Given the description of an element on the screen output the (x, y) to click on. 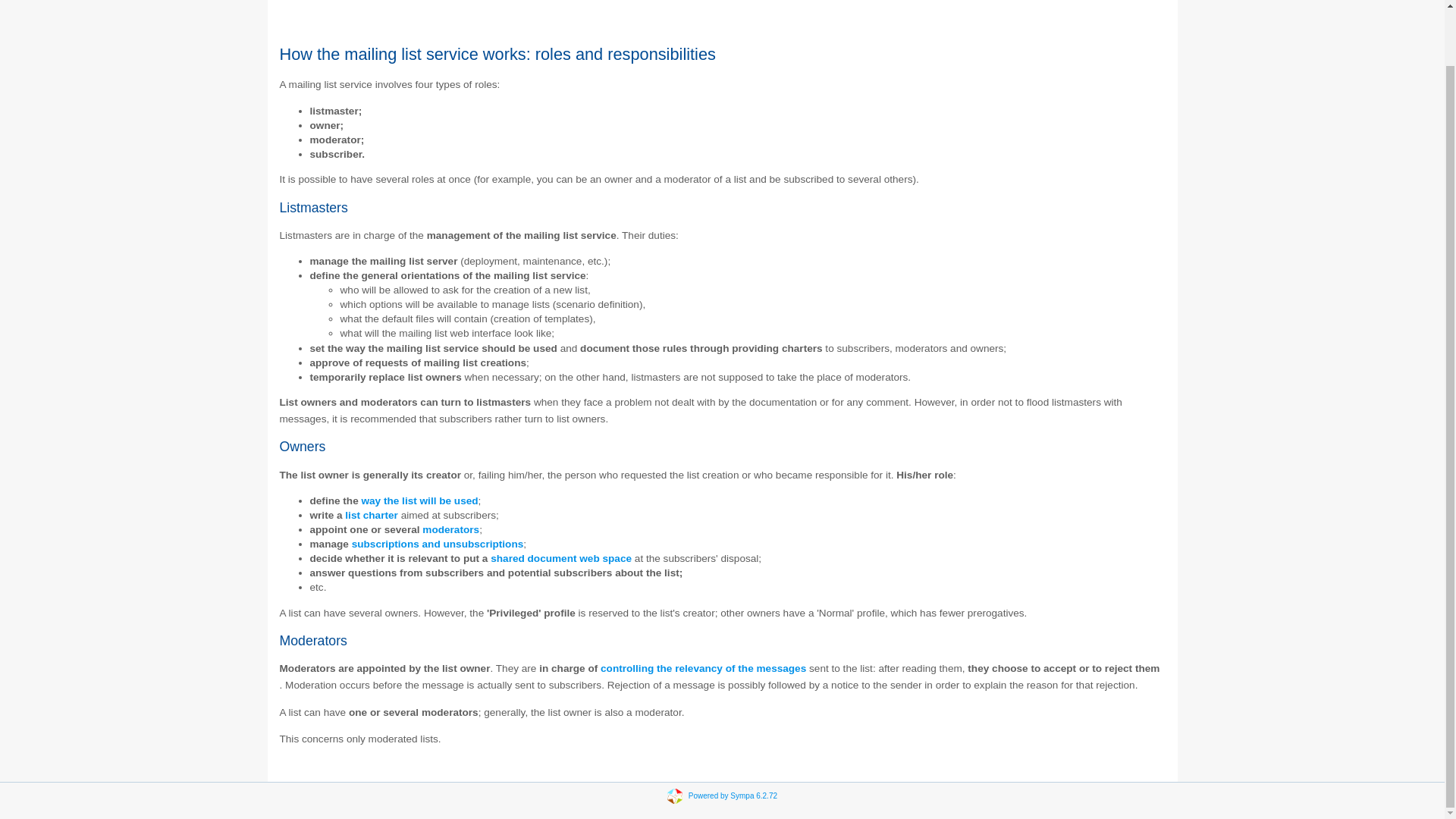
way the list will be used (419, 500)
subscriptions and unsubscriptions (438, 543)
controlling the relevancy of the messages (702, 668)
Powered by Sympa 6.2.72 (732, 795)
list charter (371, 514)
shared document web space (560, 558)
moderators (450, 529)
